Given the description of an element on the screen output the (x, y) to click on. 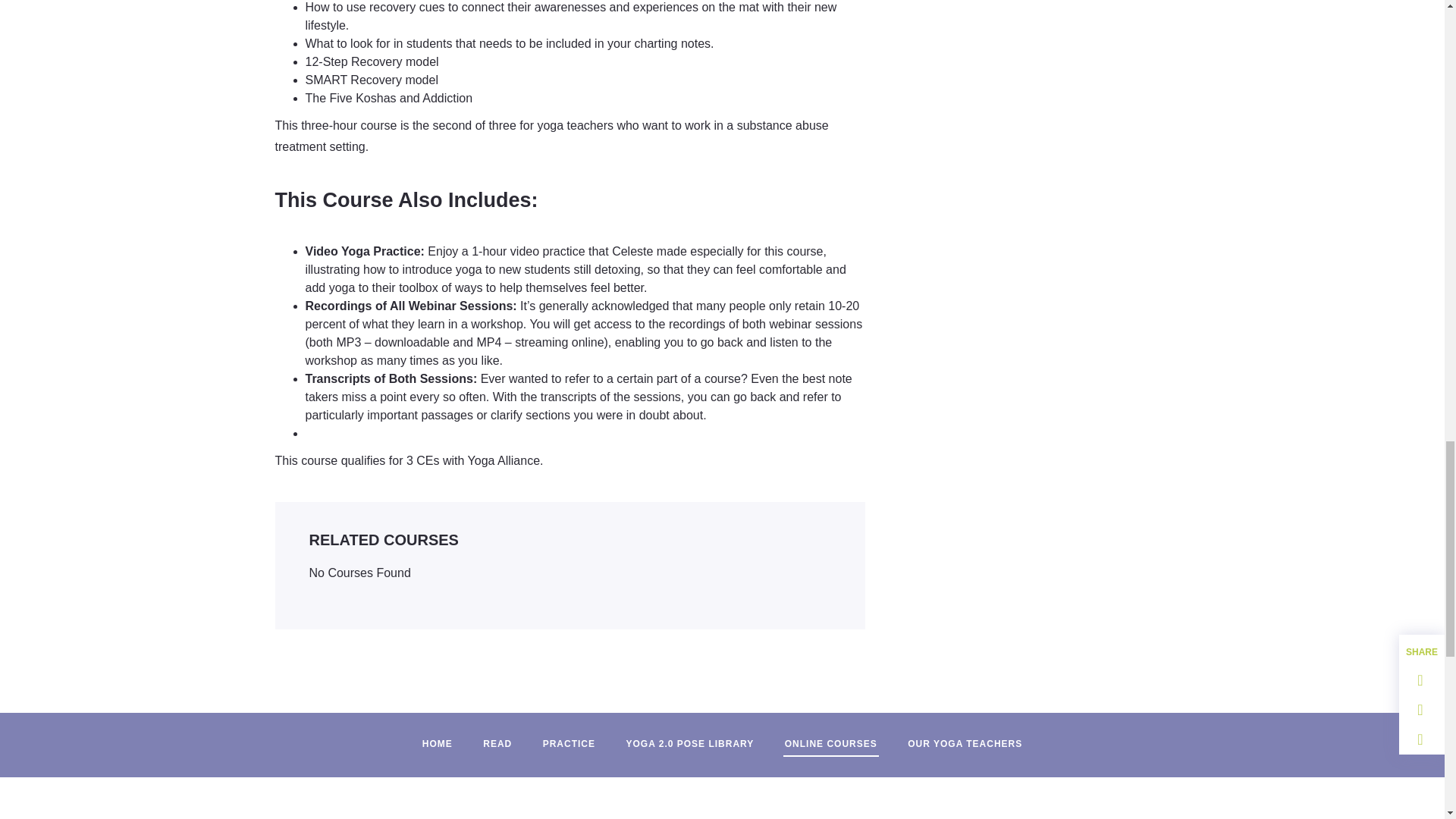
HOME (437, 736)
